Given the description of an element on the screen output the (x, y) to click on. 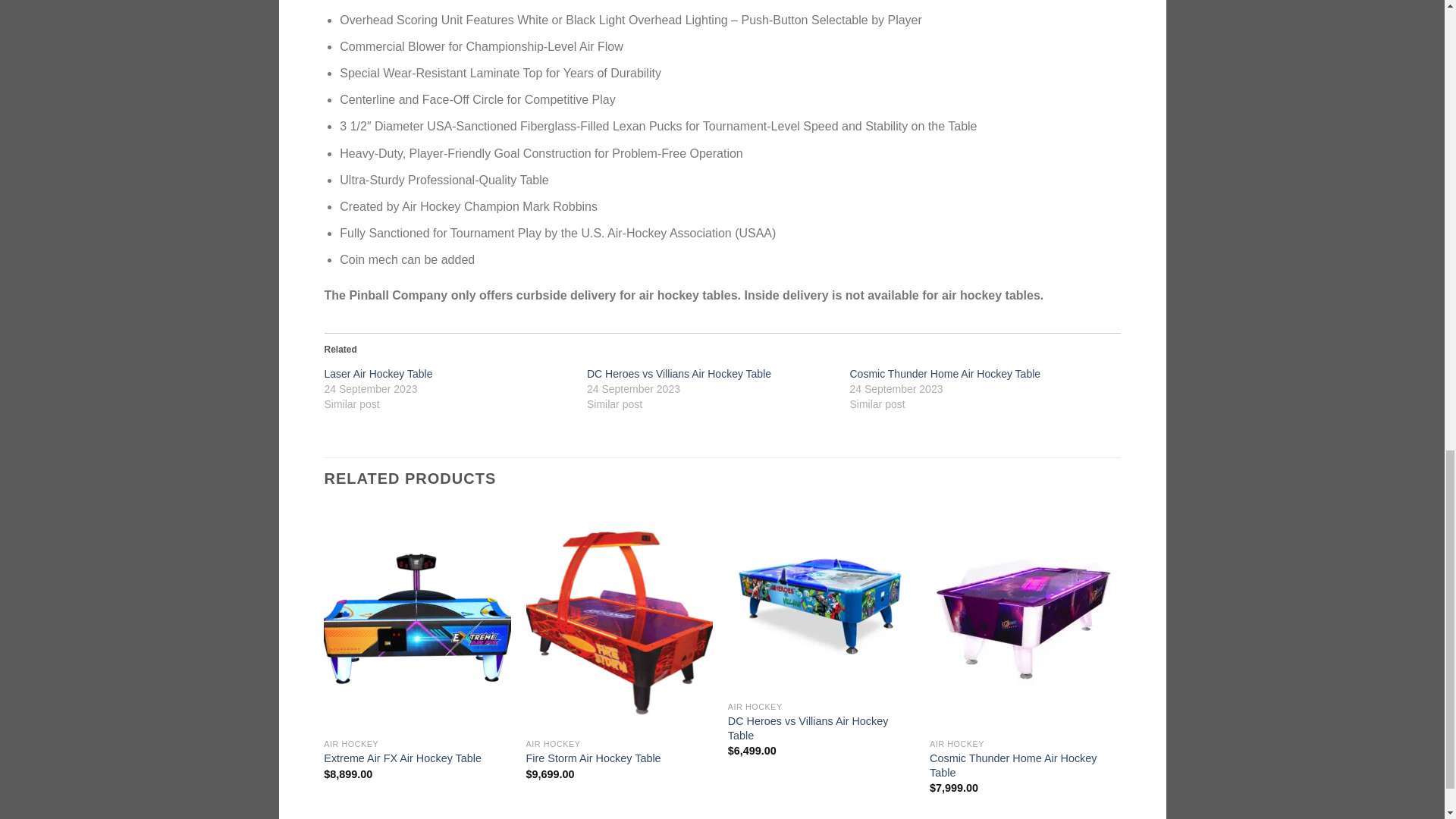
DC Heroes vs Villians Air Hockey Table (678, 373)
Laser Air Hockey Table (378, 373)
